Given the description of an element on the screen output the (x, y) to click on. 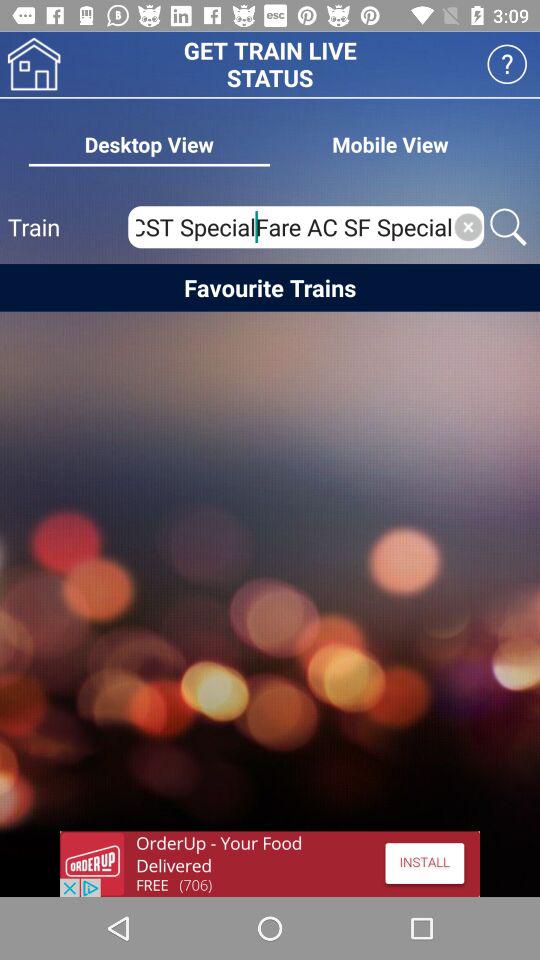
go to home page (33, 63)
